Given the description of an element on the screen output the (x, y) to click on. 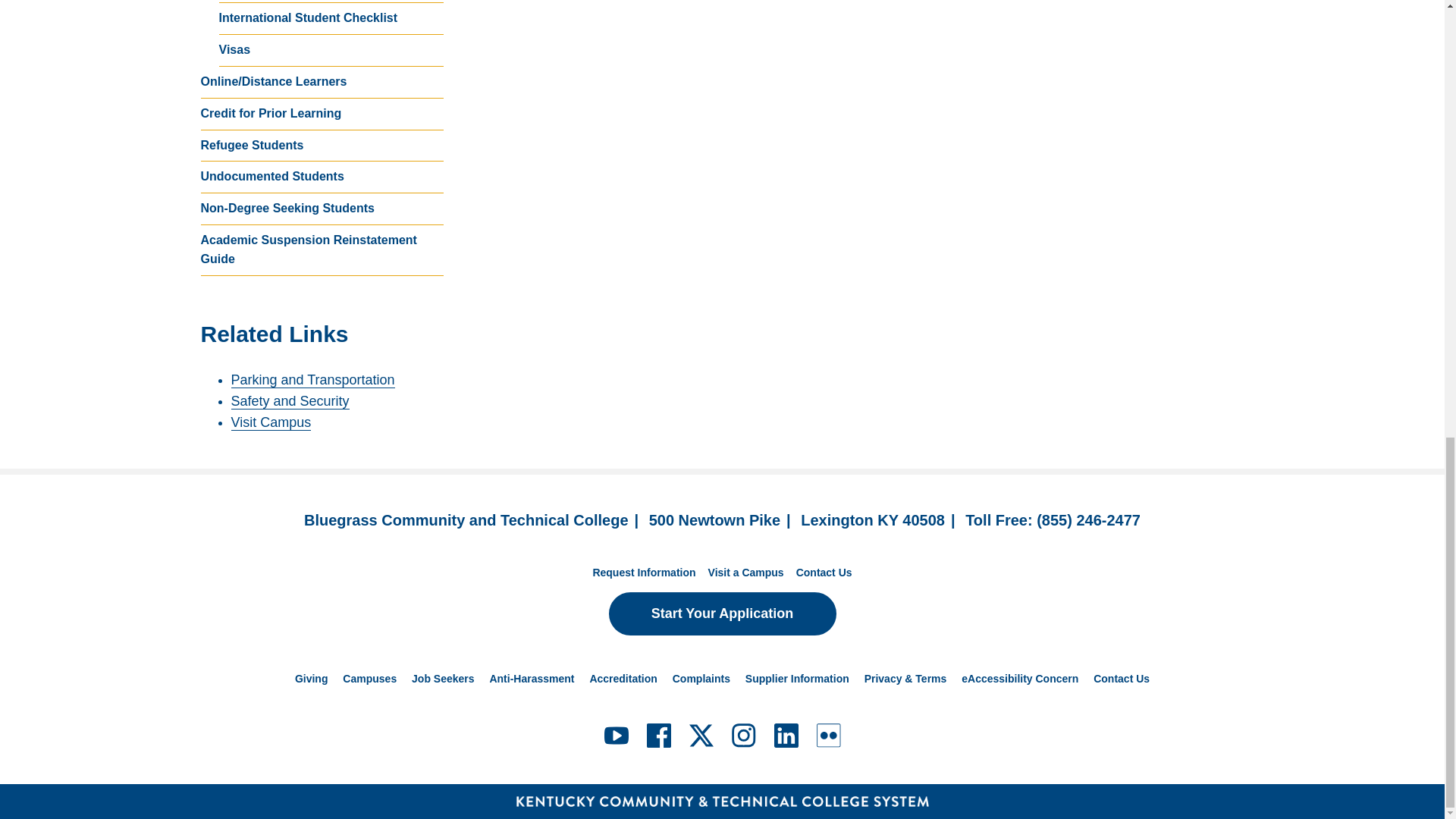
Opens BCTC Facebook page in new window (657, 735)
Opens BCTC LinkedIn page in new window (785, 735)
Opens BCTC YouTube page in new window (615, 735)
Opens BCTC Instagram page in new window (742, 735)
Opens BCTC Twitter page in new window (700, 735)
Opens BCTC Flickr page in new window (827, 735)
